Given the description of an element on the screen output the (x, y) to click on. 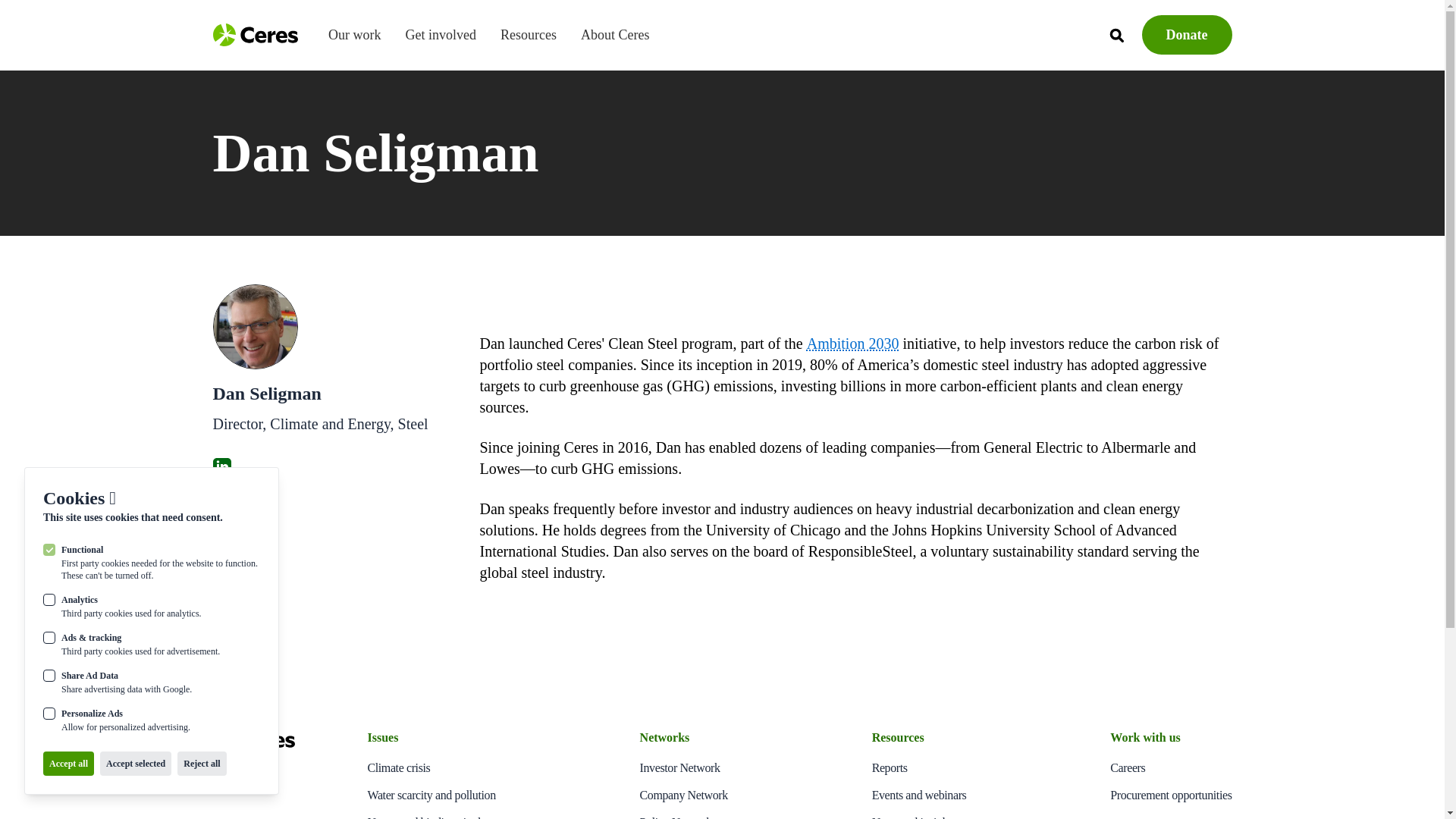
Search (1116, 34)
Resources (528, 34)
Accept selected (135, 763)
on (49, 549)
Accept all (68, 763)
on (49, 637)
on (49, 675)
Our work (355, 34)
Donate (1186, 34)
Reject all (201, 763)
